Given the description of an element on the screen output the (x, y) to click on. 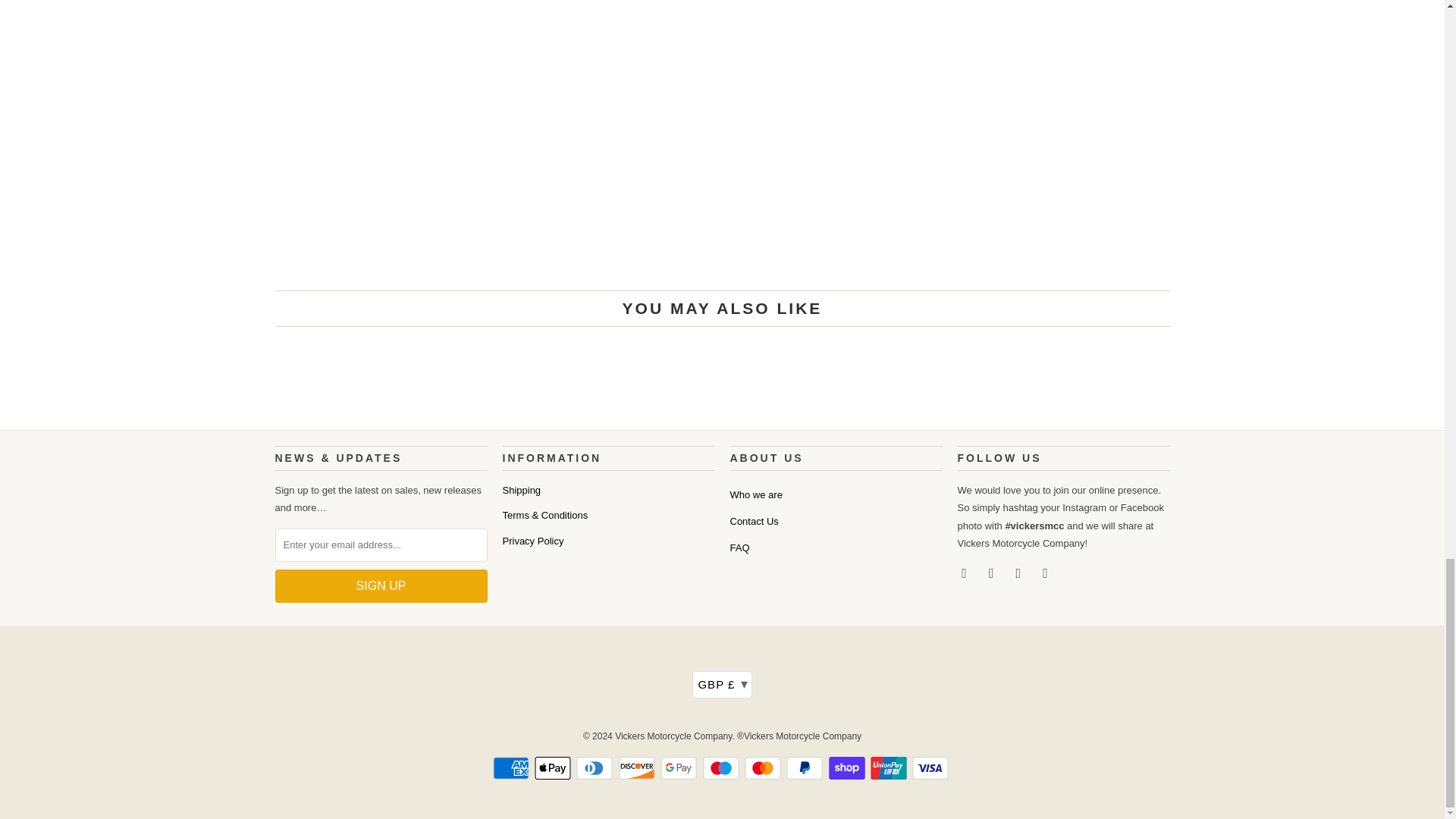
Visa (932, 767)
Diners Club (595, 767)
Apple Pay (553, 767)
Discover (638, 767)
Union Pay (890, 767)
Google Pay (680, 767)
Shop Pay (847, 767)
Mastercard (764, 767)
Sign Up (380, 585)
American Express (512, 767)
